Given the description of an element on the screen output the (x, y) to click on. 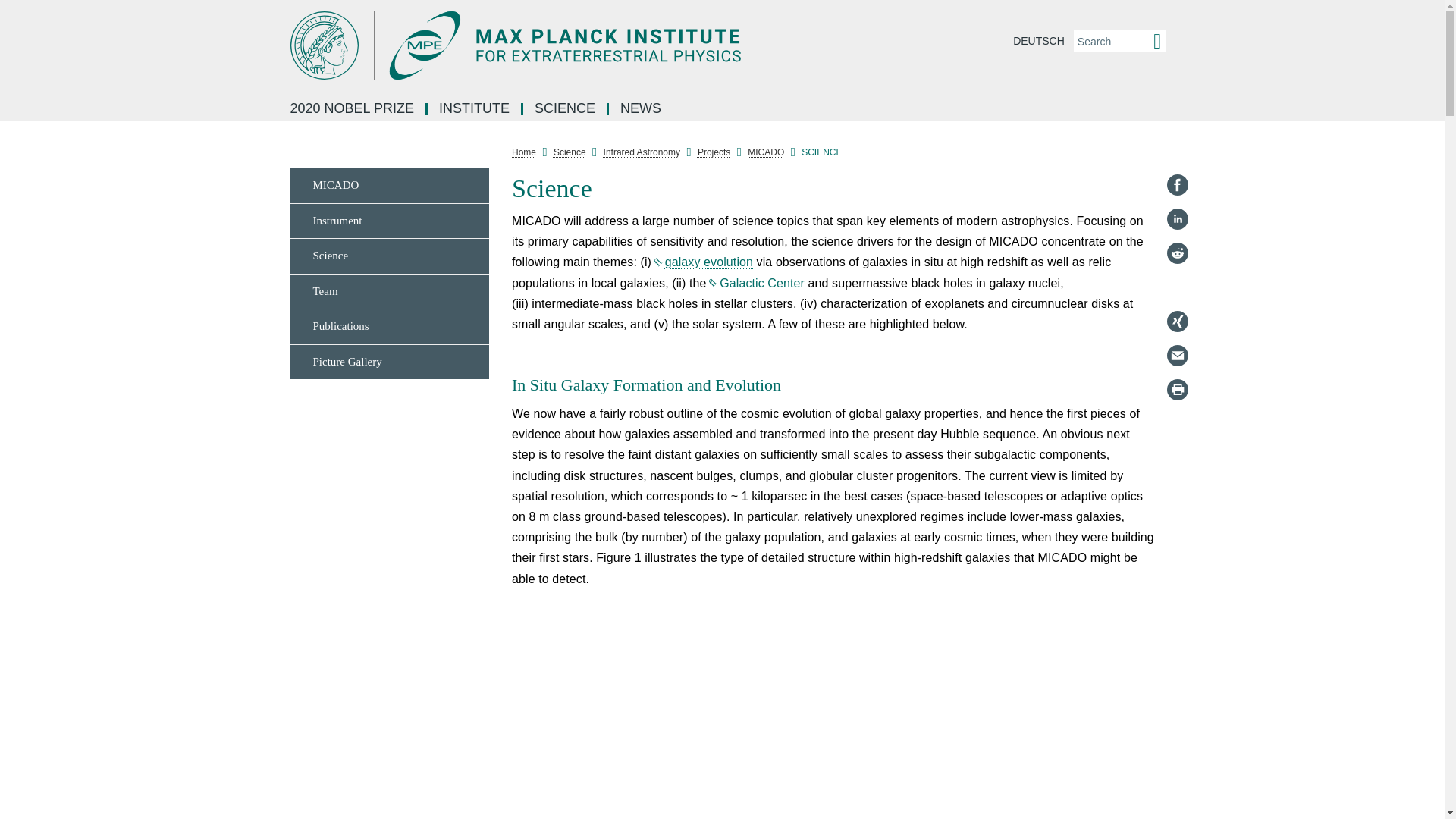
Facebook (1177, 184)
DEUTSCH (1038, 41)
E-Mail (1177, 354)
INSTITUTE (475, 108)
Twitter (1177, 287)
Print (1177, 389)
2020 NOBEL PRIZE (353, 108)
Reddit (1177, 252)
SCIENCE (565, 108)
Xing (1177, 321)
LinkedIn (1177, 219)
